Given the description of an element on the screen output the (x, y) to click on. 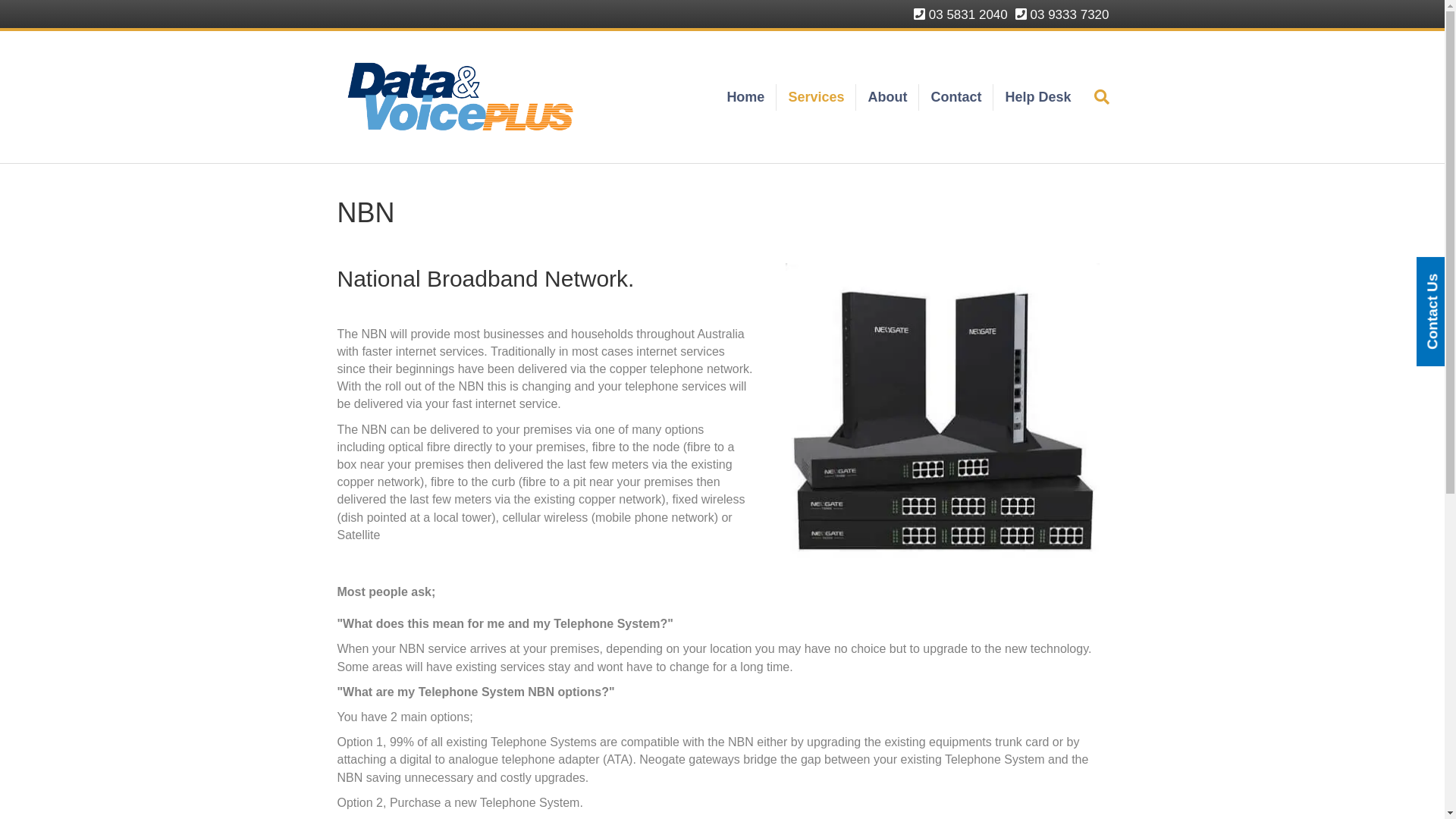
Contact Element type: text (956, 97)
neogate VOIP telephone adaptor Element type: hover (942, 415)
03 5831 2040 Element type: text (960, 13)
Home Element type: text (745, 97)
03 9333 7320 Element type: text (1062, 13)
Services Element type: text (816, 97)
Help Desk Element type: text (1037, 97)
About Element type: text (887, 97)
